Given the description of an element on the screen output the (x, y) to click on. 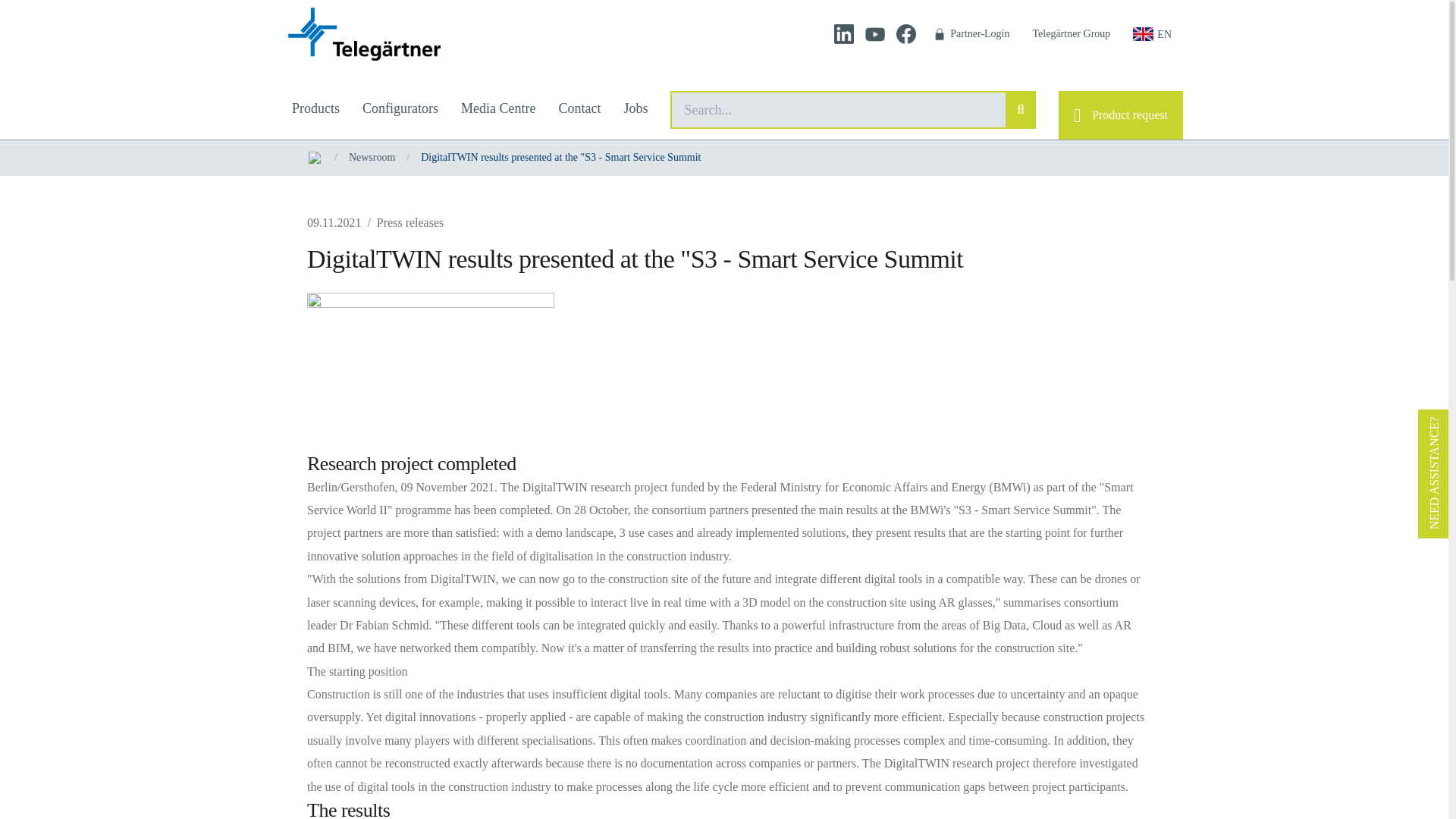
Products (315, 115)
EN (1151, 33)
Partner-Login (970, 33)
